Given the description of an element on the screen output the (x, y) to click on. 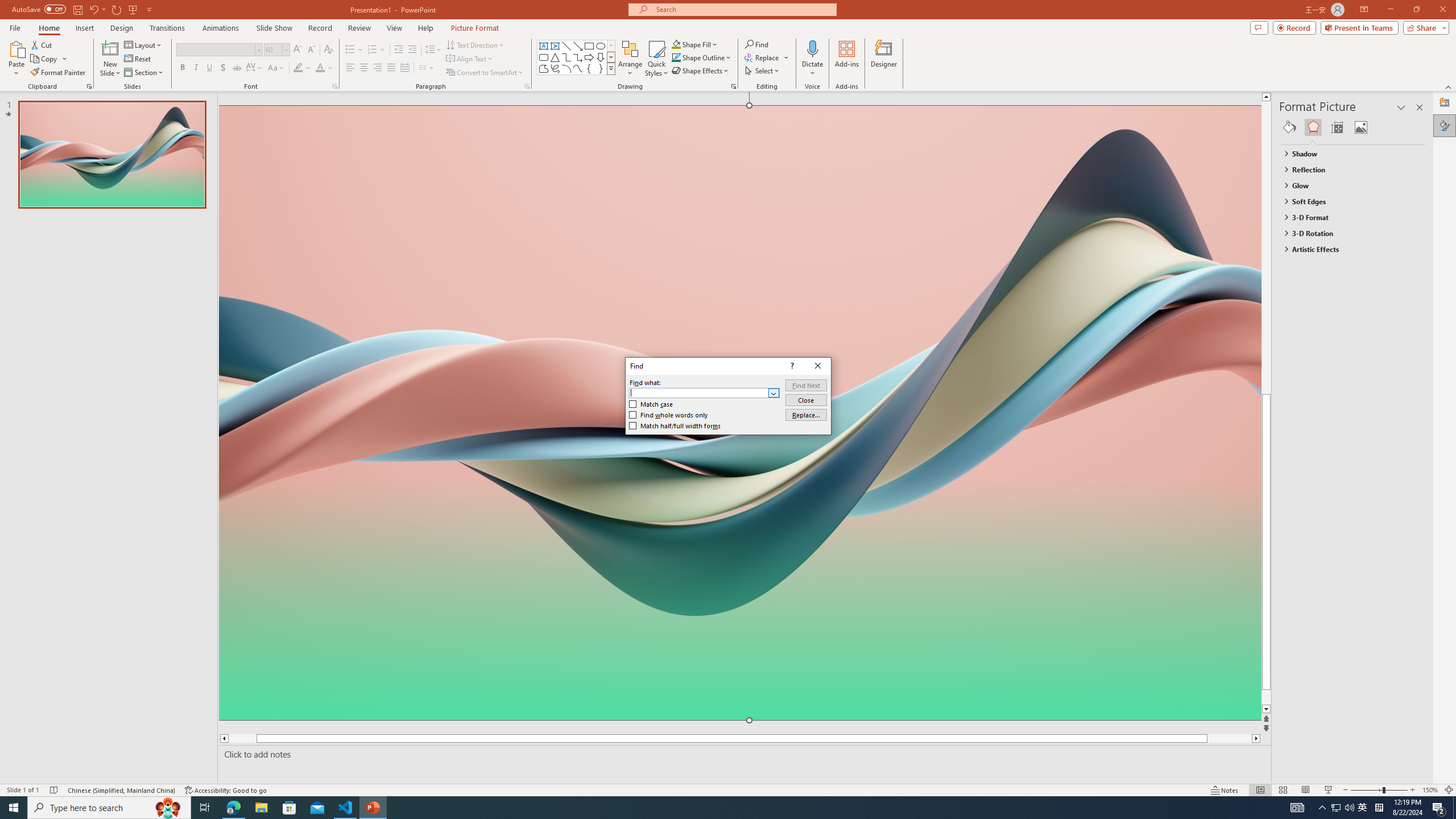
Artistic Effects (1347, 248)
Picture (1361, 126)
Context help (791, 366)
